Given the description of an element on the screen output the (x, y) to click on. 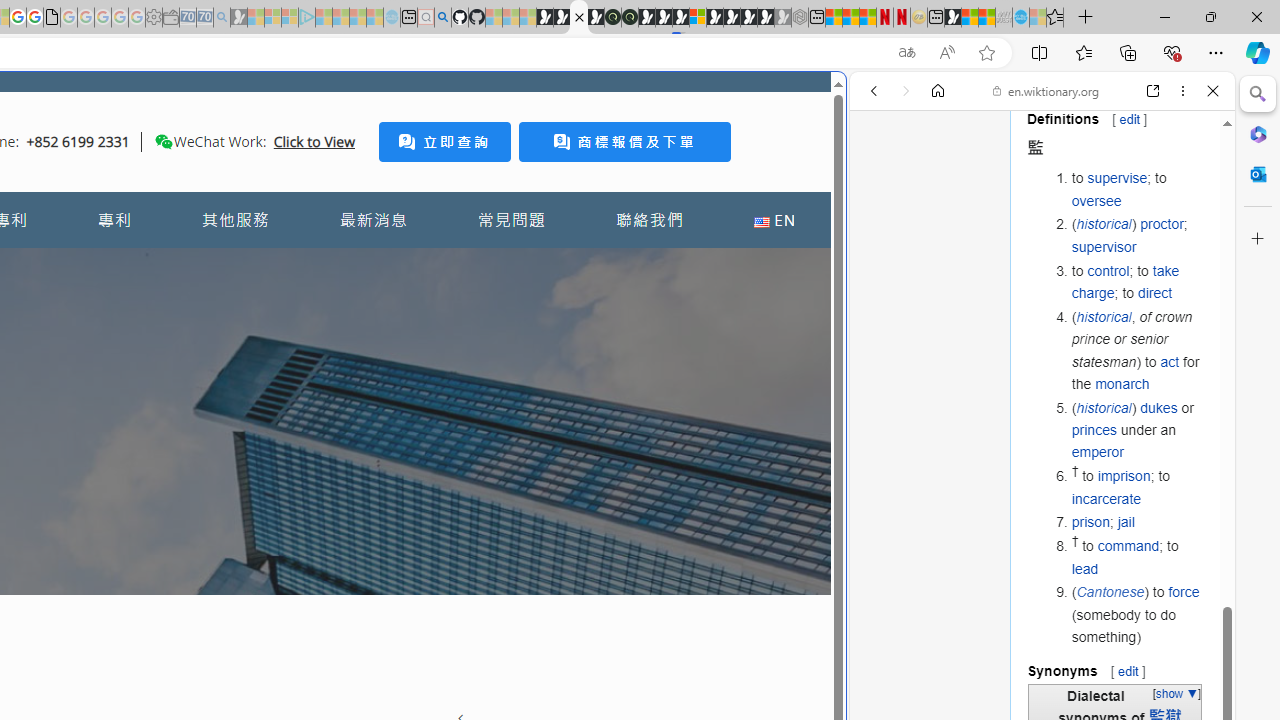
Search (1258, 94)
Play Cave FRVR in your browser | Games from Microsoft Start (663, 17)
SEARCH TOOLS (1093, 228)
Search Filter, Search Tools (1093, 228)
Settings and more (Alt+F) (1215, 52)
Search Filter, WEB (882, 228)
Microsoft Start Gaming - Sleeping (238, 17)
Close (1213, 91)
Wiktionary (1034, 669)
